Given the description of an element on the screen output the (x, y) to click on. 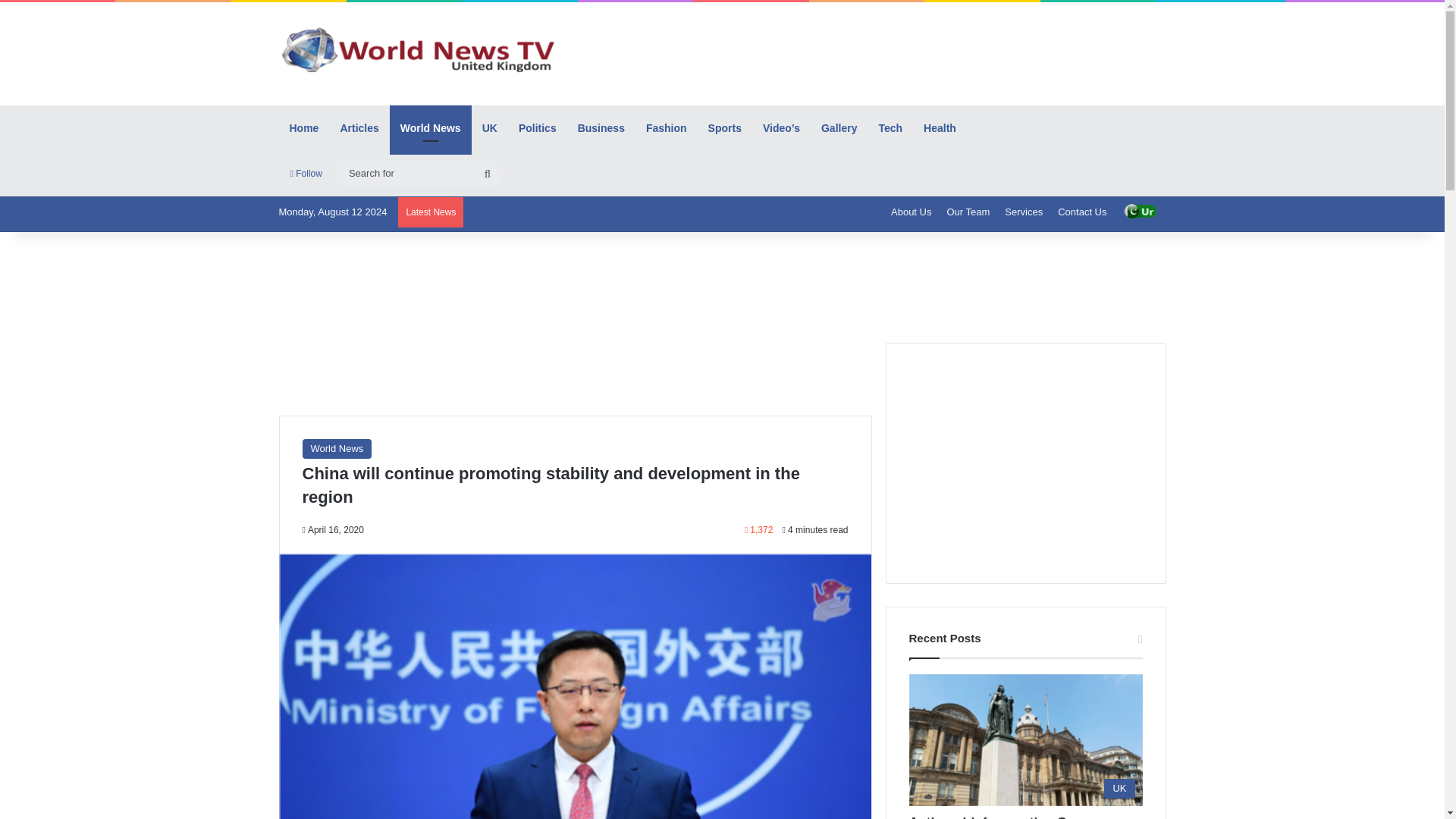
Follow (306, 173)
World News (336, 448)
Health (939, 127)
Search for (486, 173)
Fashion (665, 127)
Contact Us (1081, 212)
Home (304, 127)
Services (1023, 212)
Gallery (838, 127)
Our Team (968, 212)
